Given the description of an element on the screen output the (x, y) to click on. 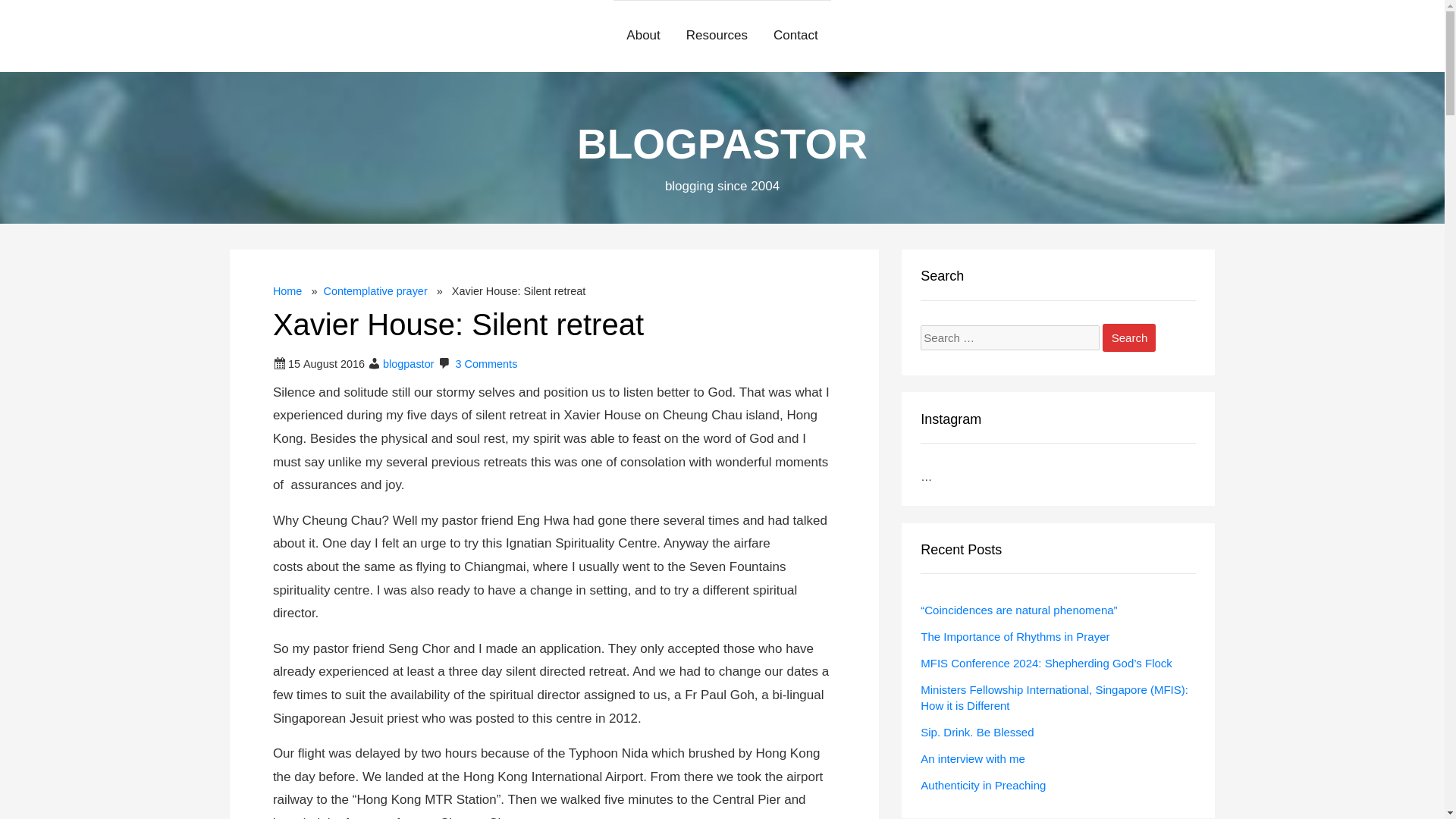
Search (1129, 337)
Contact (795, 36)
Search (1129, 337)
3 Comments (486, 363)
Posts by blogpastor (407, 363)
blogpastor (407, 363)
Contemplative prayer (374, 291)
Home (287, 291)
Resources (716, 36)
BLOGPASTOR (721, 143)
